Given the description of an element on the screen output the (x, y) to click on. 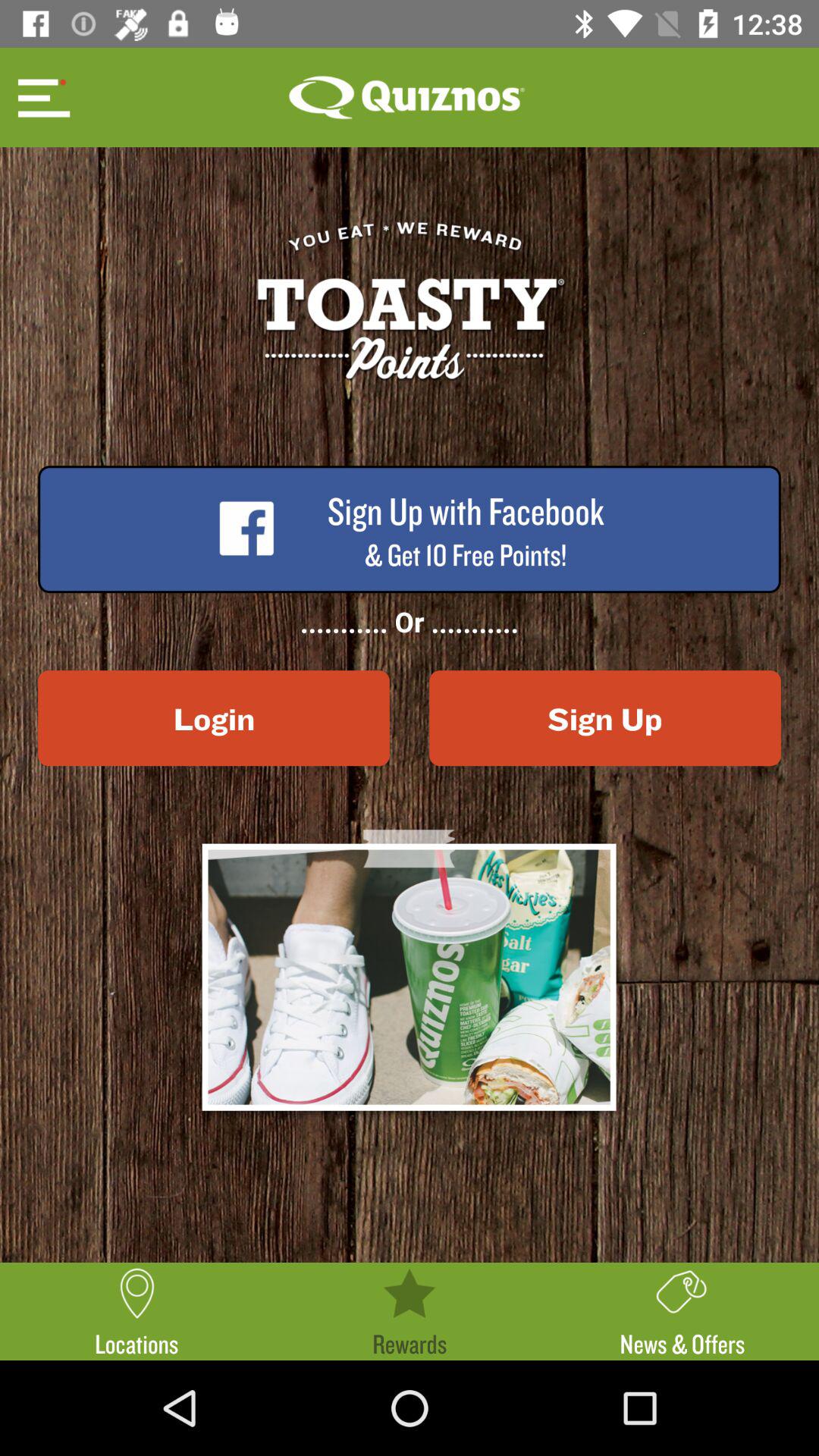
flip to the login icon (213, 718)
